Given the description of an element on the screen output the (x, y) to click on. 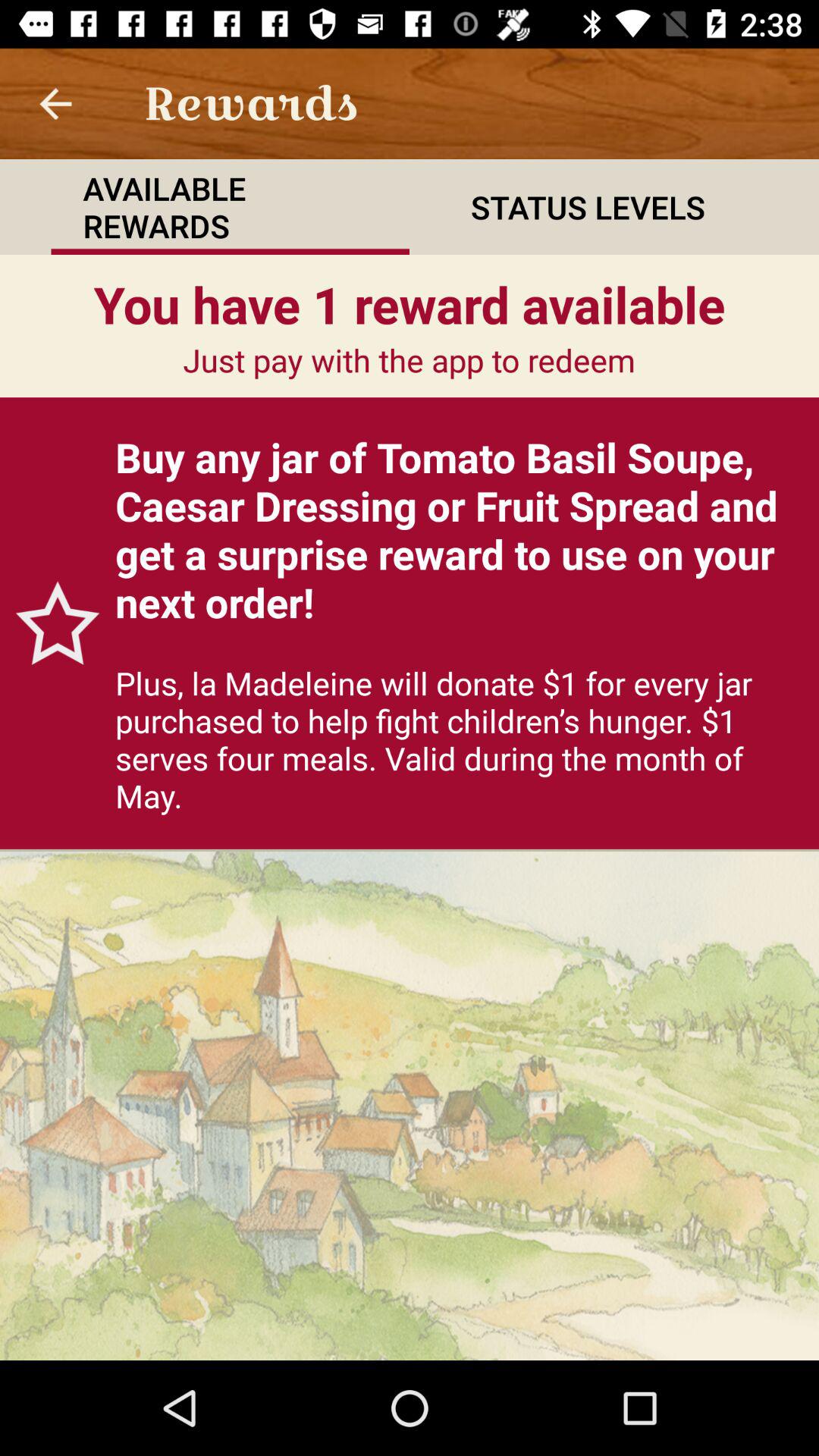
turn on the icon next to the buy any jar (49, 622)
